Given the description of an element on the screen output the (x, y) to click on. 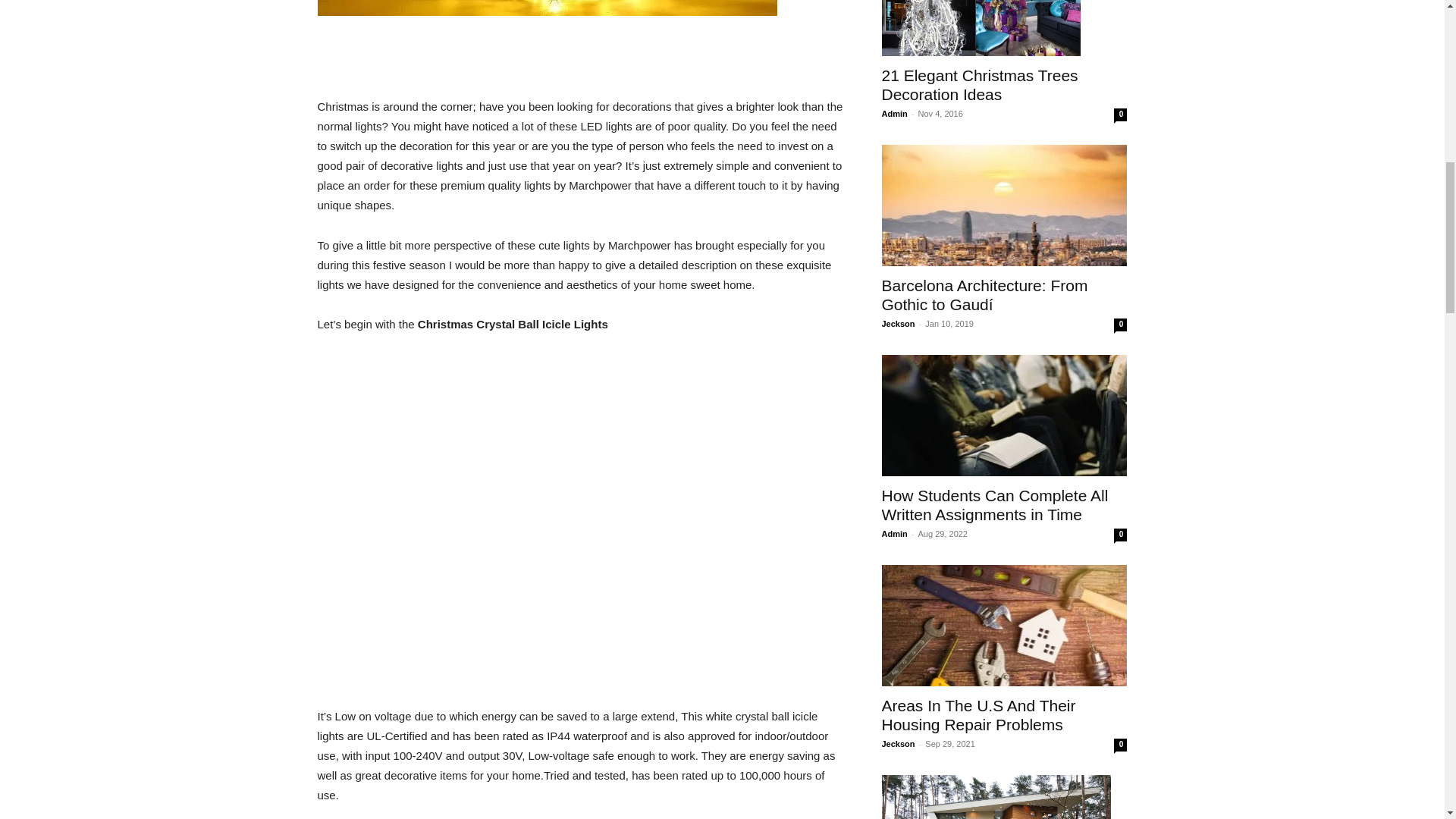
Christmas Tree Lights2 (546, 7)
Advertisement (580, 58)
